Given the description of an element on the screen output the (x, y) to click on. 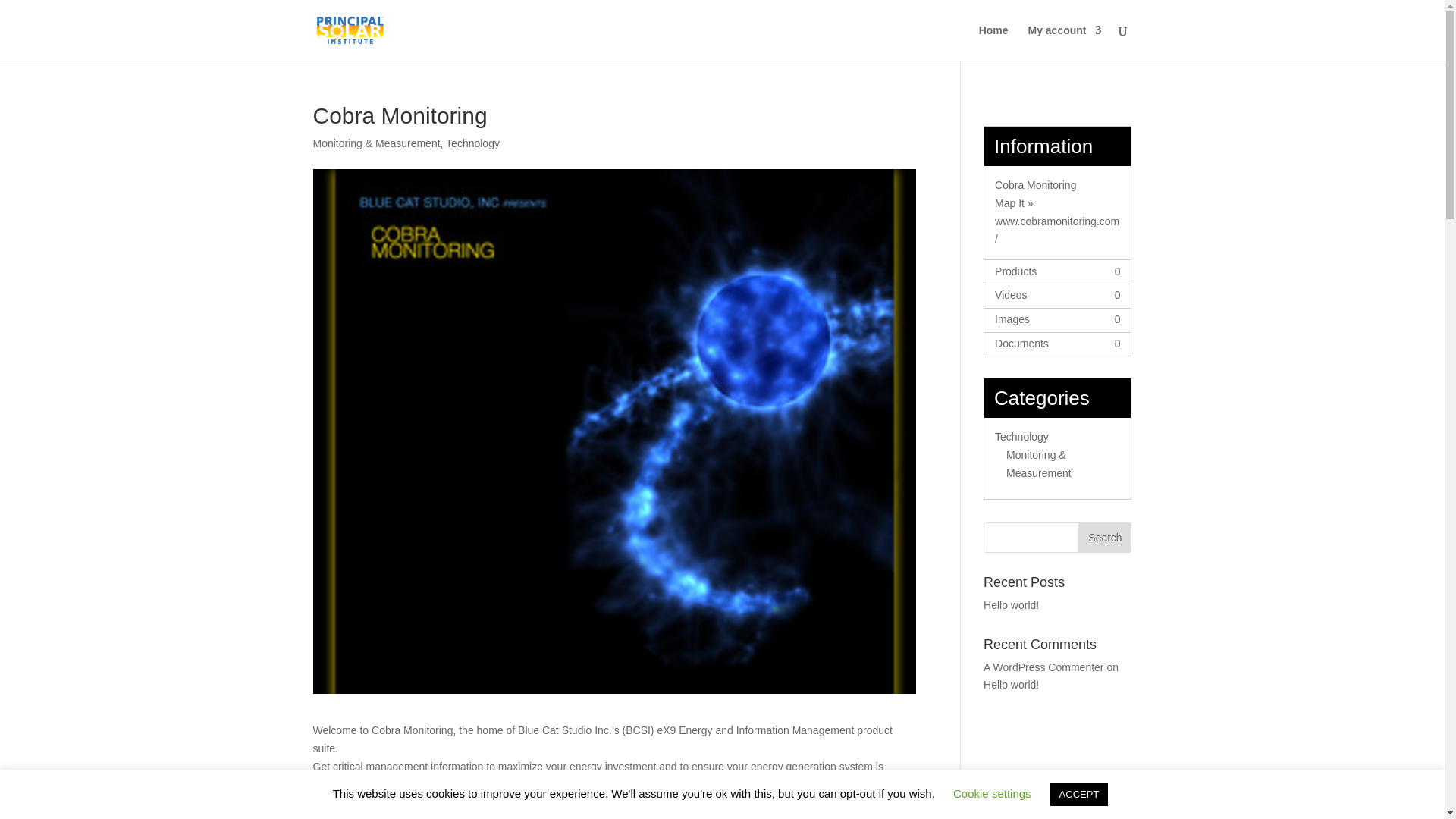
Technology (472, 143)
Technology (1021, 436)
Documents (1021, 343)
My account (1063, 42)
Videos (1010, 295)
Hello world! (1011, 684)
A WordPress Commenter (1043, 666)
Hello world! (1011, 604)
Search (1104, 537)
Images (1011, 318)
